Given the description of an element on the screen output the (x, y) to click on. 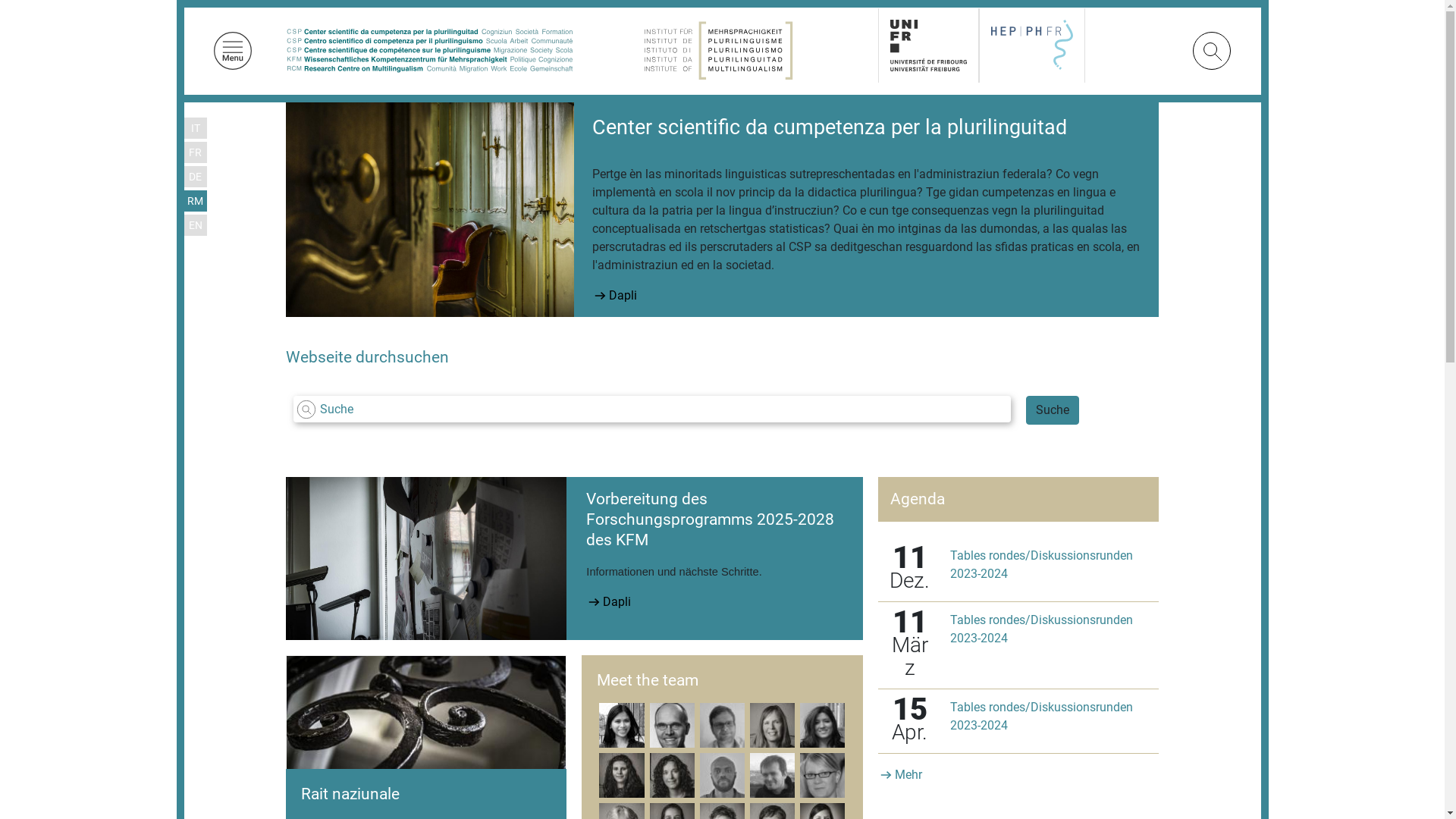
Suche Element type: text (1052, 409)
FR Element type: text (195, 152)
1 Element type: text (795, 620)
logo_hep Element type: hover (1032, 44)
Dapli Element type: text (606, 295)
Dapli Element type: text (616, 599)
Direkt zum Inhalt Element type: text (175, 0)
logo_unifr Element type: hover (928, 45)
4 Element type: text (849, 620)
2 Element type: text (813, 620)
Tables rondes/Diskussionsrunden 2023-2024 Element type: text (1041, 628)
IT Element type: text (195, 128)
3 Element type: text (831, 620)
RM Element type: text (194, 201)
DE Element type: text (195, 177)
CSP Element type: hover (429, 49)
IDP Element type: hover (717, 49)
EN Element type: text (194, 225)
Mehr Element type: text (908, 774)
Tables rondes/Diskussionsrunden 2023-2024 Element type: text (1041, 564)
Tables rondes/Diskussionsrunden 2023-2024 Element type: text (1041, 715)
